Given the description of an element on the screen output the (x, y) to click on. 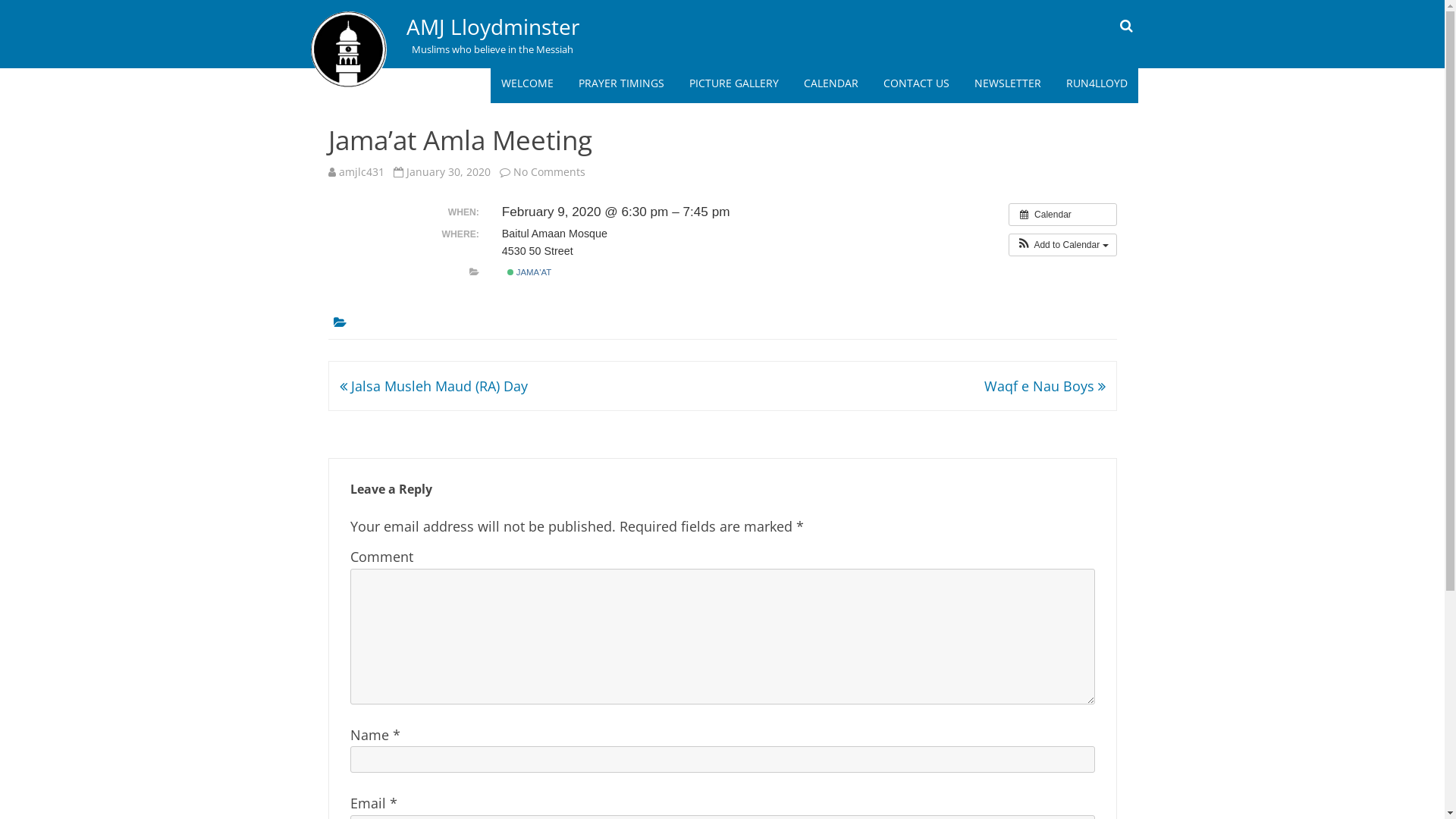
JAMA'AT Element type: text (528, 272)
AMJ Lloydminster Element type: text (492, 26)
PRAYER TIMINGS Element type: text (620, 83)
RUN4LLOYD Element type: text (1096, 83)
Jama'at Element type: hover (510, 272)
Waqf e Nau Boys Element type: text (1044, 385)
Categories Element type: hover (474, 271)
NEWSLETTER Element type: text (1006, 83)
amjlc431 Element type: text (360, 171)
CALENDAR Element type: text (830, 83)
Jalsa Musleh Maud (RA) Day Element type: text (433, 385)
PICTURE GALLERY Element type: text (733, 83)
Calendar Element type: text (1062, 214)
CONTACT US Element type: text (915, 83)
WELCOME Element type: text (526, 83)
